Given the description of an element on the screen output the (x, y) to click on. 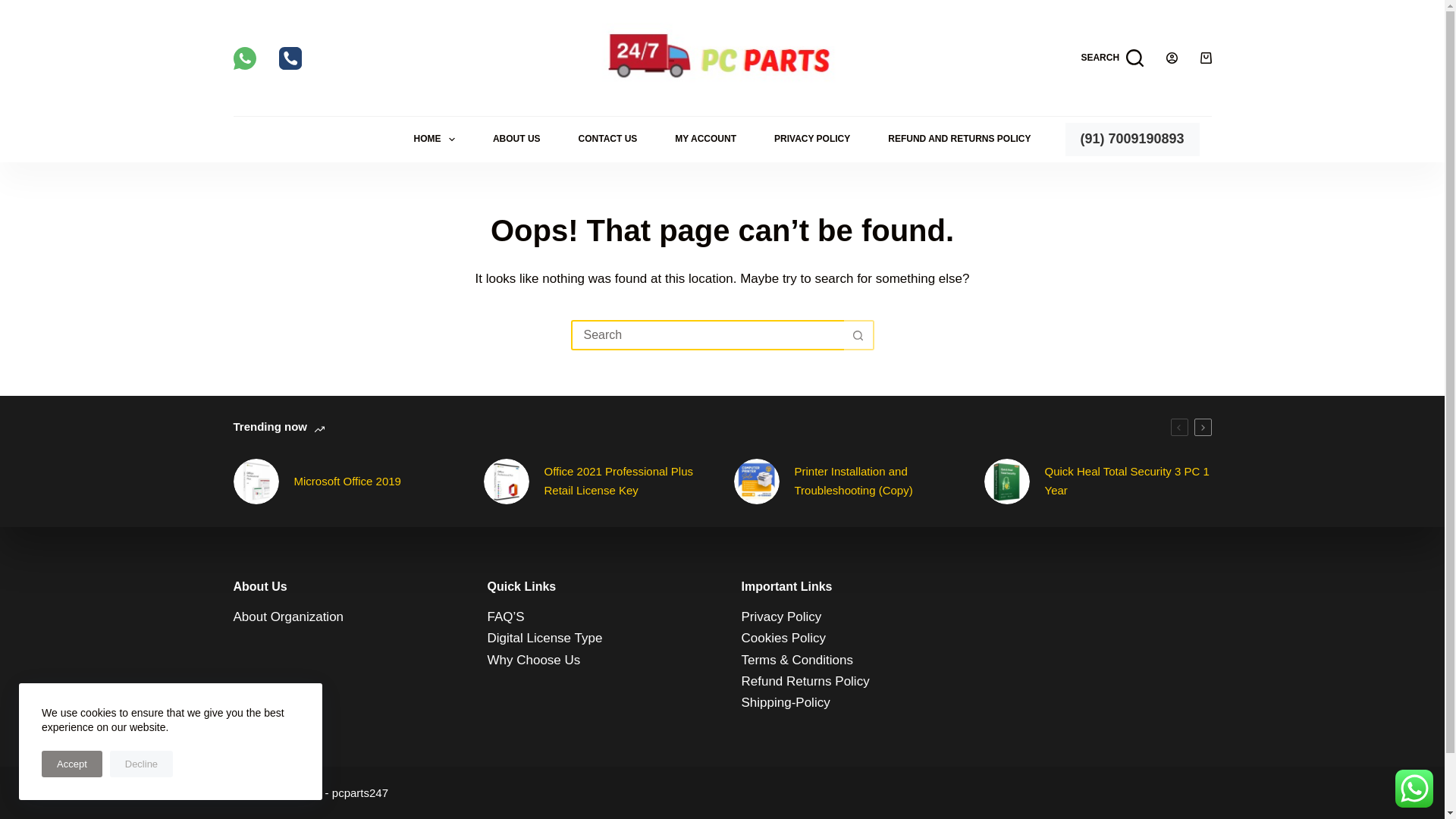
Skip to content (15, 7)
Decline (141, 764)
Office 2021 300x300 (506, 481)
Shopping cart (1205, 57)
office 2019 300x300 (255, 481)
CONTACT US (607, 139)
HOME (433, 139)
SEARCH (1111, 57)
PRIVACY POLICY (812, 139)
Search for... (706, 335)
Accept (71, 764)
MY ACCOUNT (705, 139)
TQ 300x300 (1006, 481)
ABOUT US (516, 139)
